Given the description of an element on the screen output the (x, y) to click on. 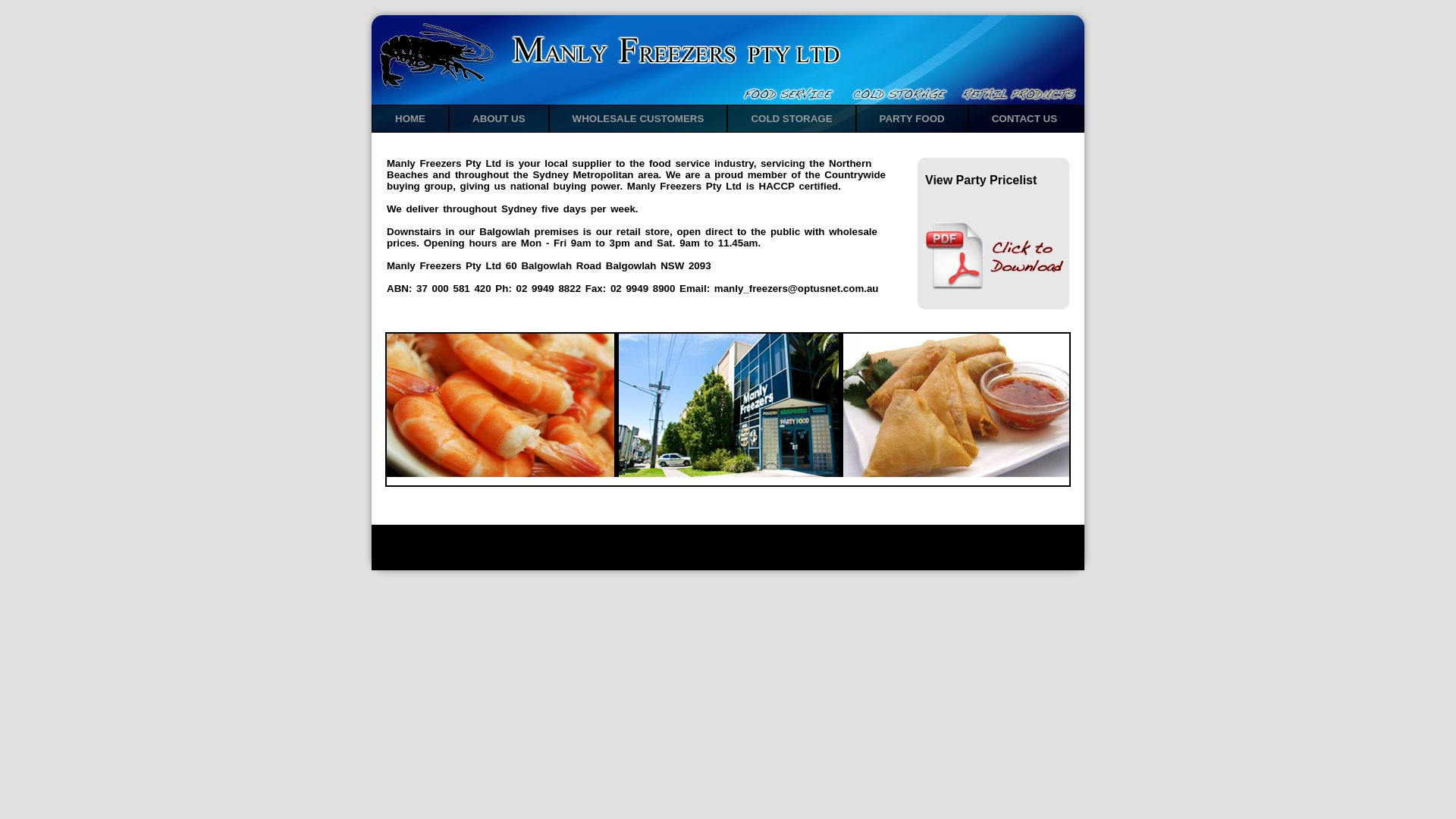
HOME Element type: text (410, 118)
CONTACT US Element type: text (1024, 118)
PARTY FOOD Element type: text (911, 118)
WHOLESALE CUSTOMERS Element type: text (638, 118)
View Party Pricelist Element type: text (993, 233)
ABOUT US Element type: text (498, 118)
COLD STORAGE Element type: text (790, 118)
